Given the description of an element on the screen output the (x, y) to click on. 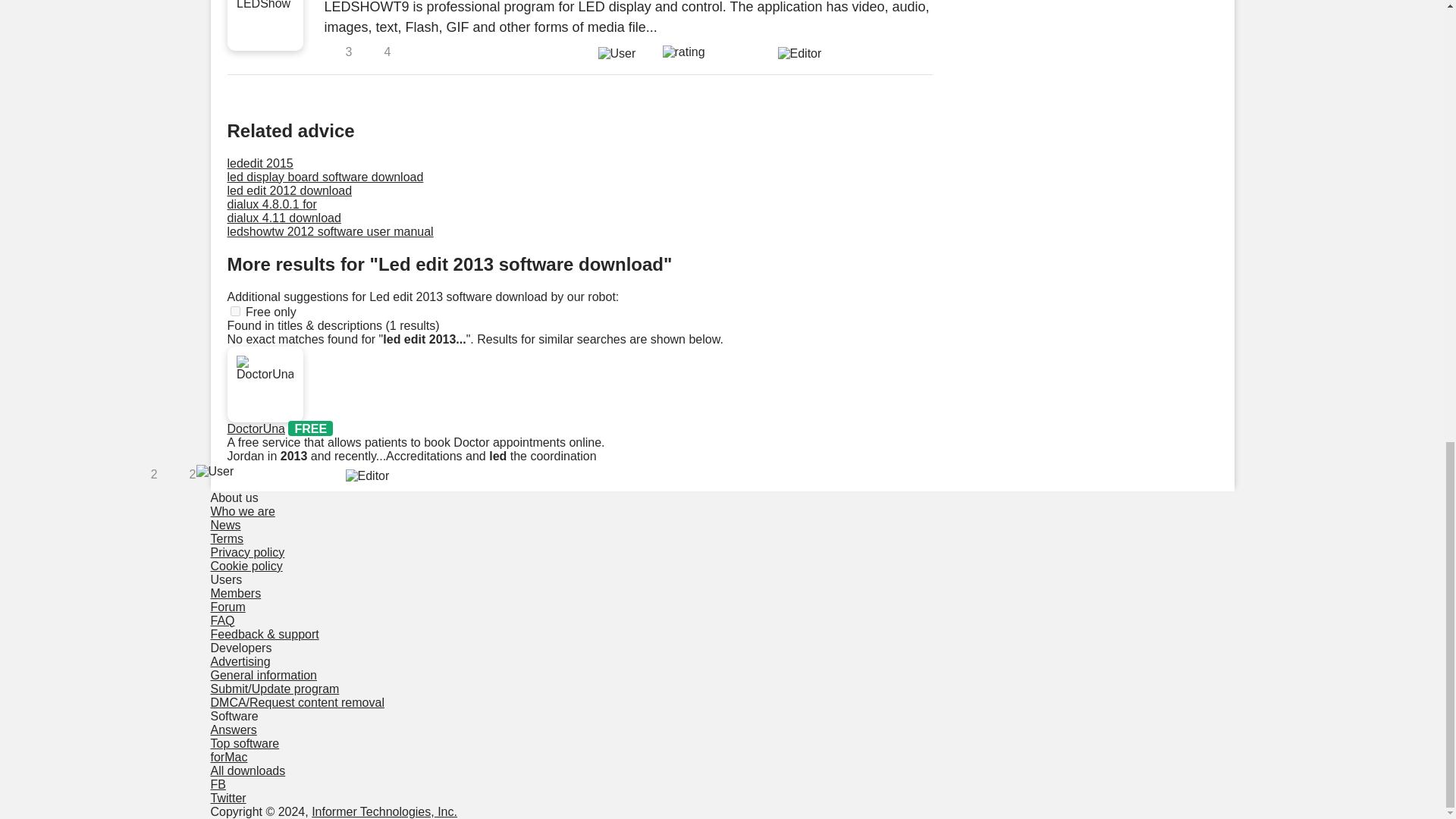
led edit 2012 download (289, 190)
Terms (227, 538)
News (226, 524)
dialux 4.11 download (283, 217)
ledshowtw 2012 software user manual (330, 231)
DoctorUna (256, 428)
Privacy policy (248, 552)
Who we are (243, 511)
lededit 2015 (260, 163)
DoctorUna (256, 428)
dialux 4.8.0.1 for (272, 204)
on (235, 311)
led display board software download (325, 176)
